Given the description of an element on the screen output the (x, y) to click on. 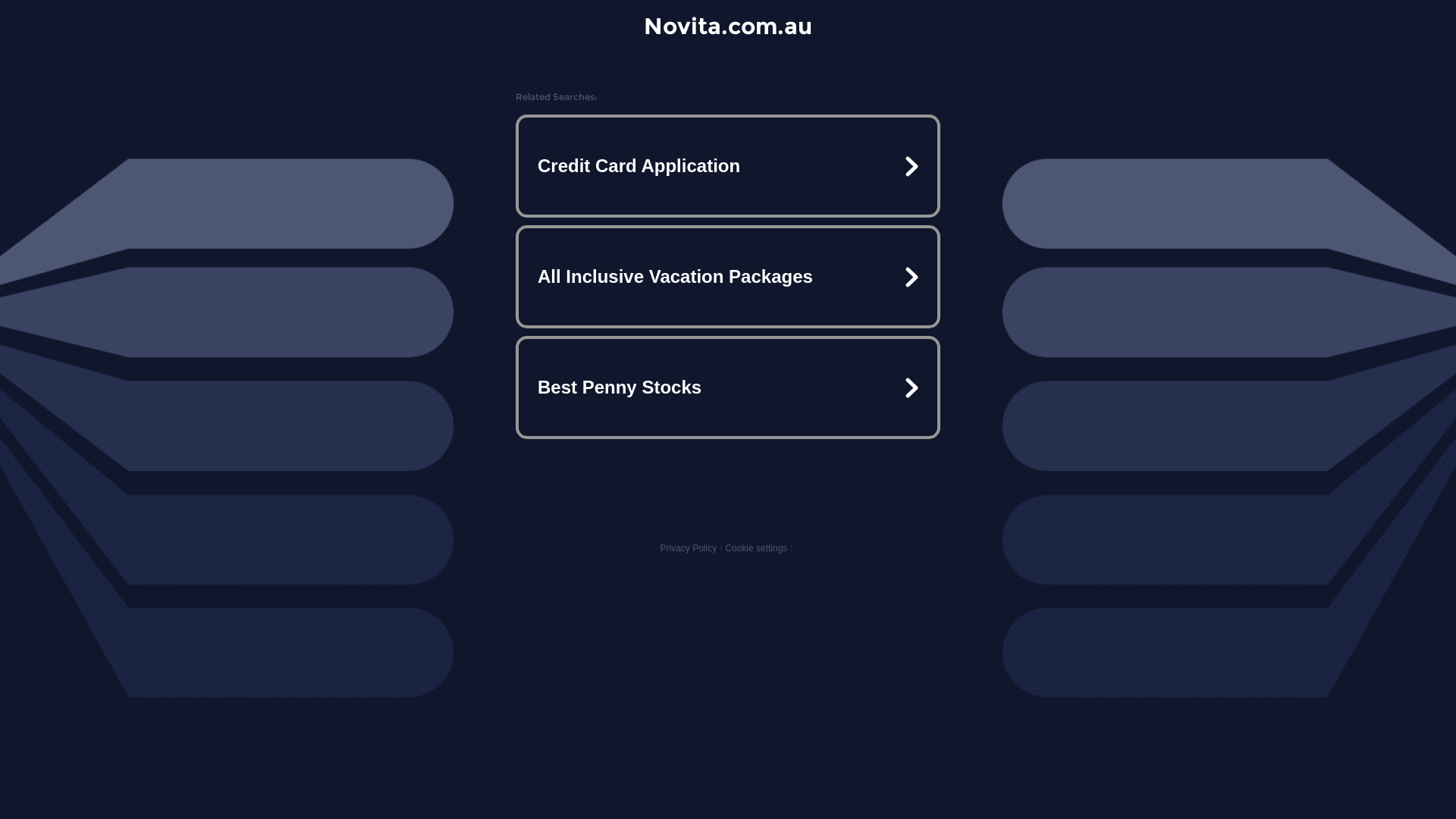
Credit Card Application Element type: text (727, 165)
All Inclusive Vacation Packages Element type: text (727, 276)
Privacy Policy Element type: text (687, 547)
Best Penny Stocks Element type: text (727, 387)
Cookie settings Element type: text (755, 547)
Novita.com.au Element type: text (727, 26)
